Given the description of an element on the screen output the (x, y) to click on. 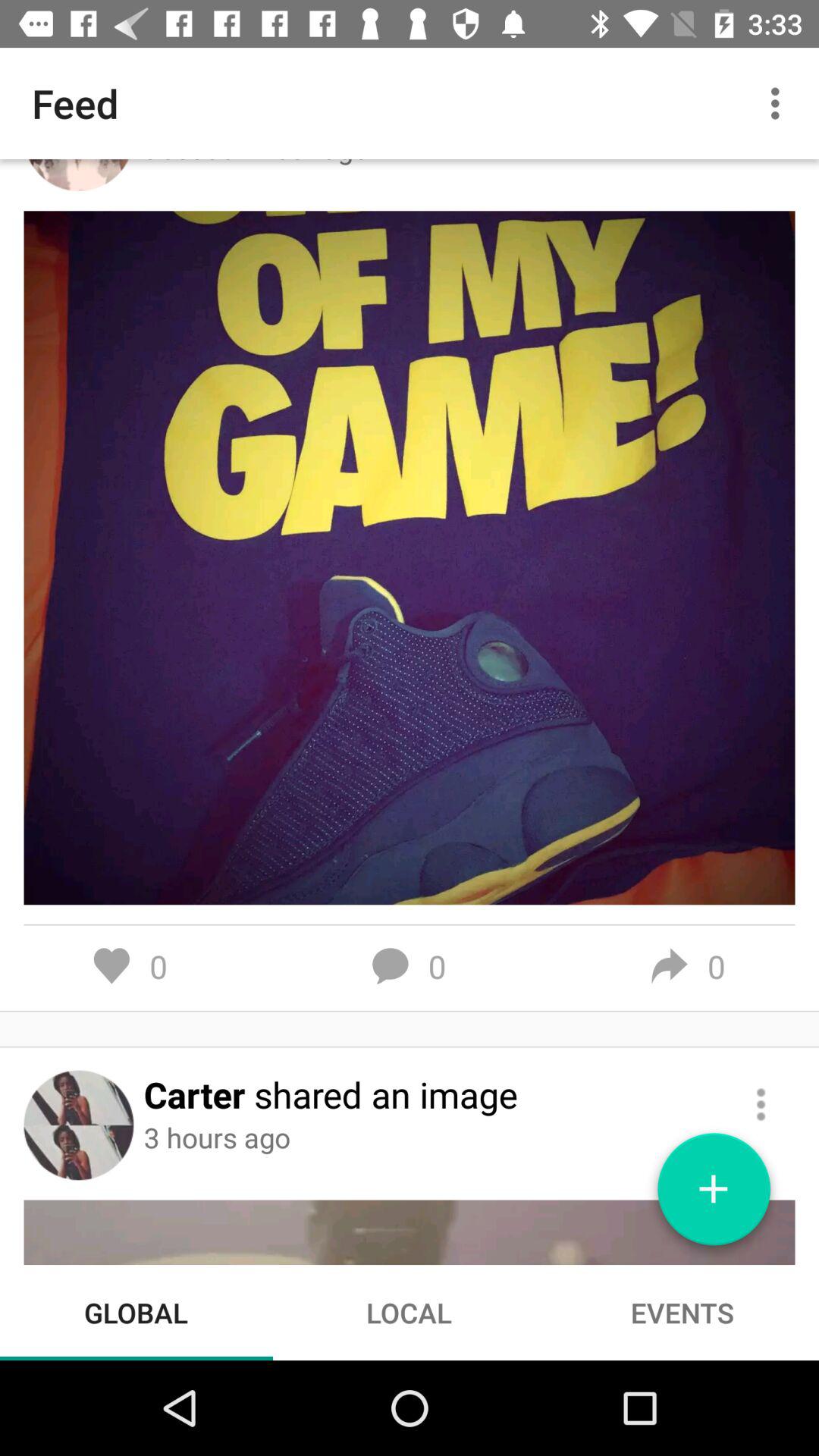
more options (760, 1104)
